Given the description of an element on the screen output the (x, y) to click on. 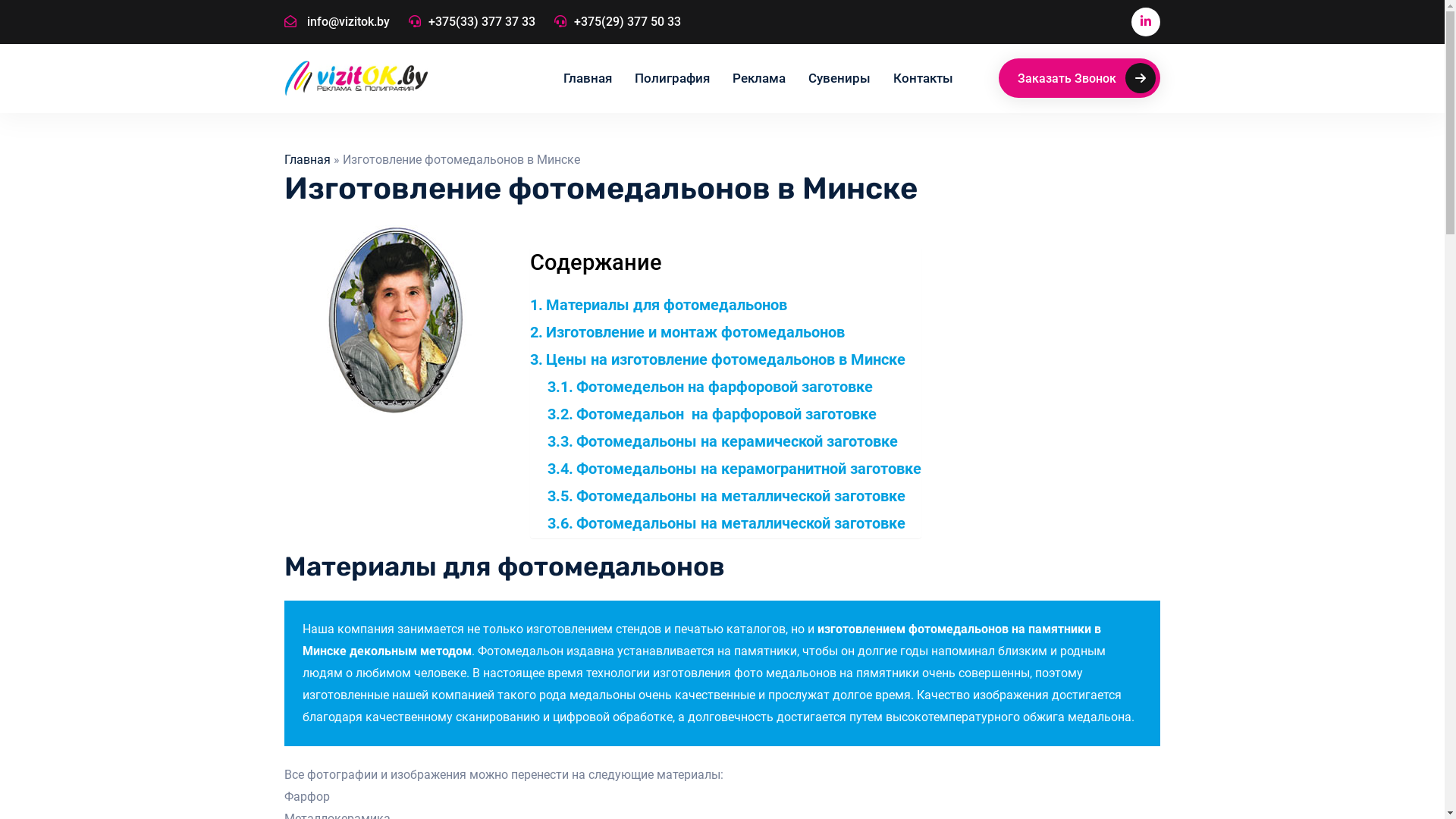
+375(33) 377 37 33 Element type: text (471, 22)
info@vizitok.by Element type: text (336, 22)
+375(29) 377 50 33 Element type: text (617, 22)
